Given the description of an element on the screen output the (x, y) to click on. 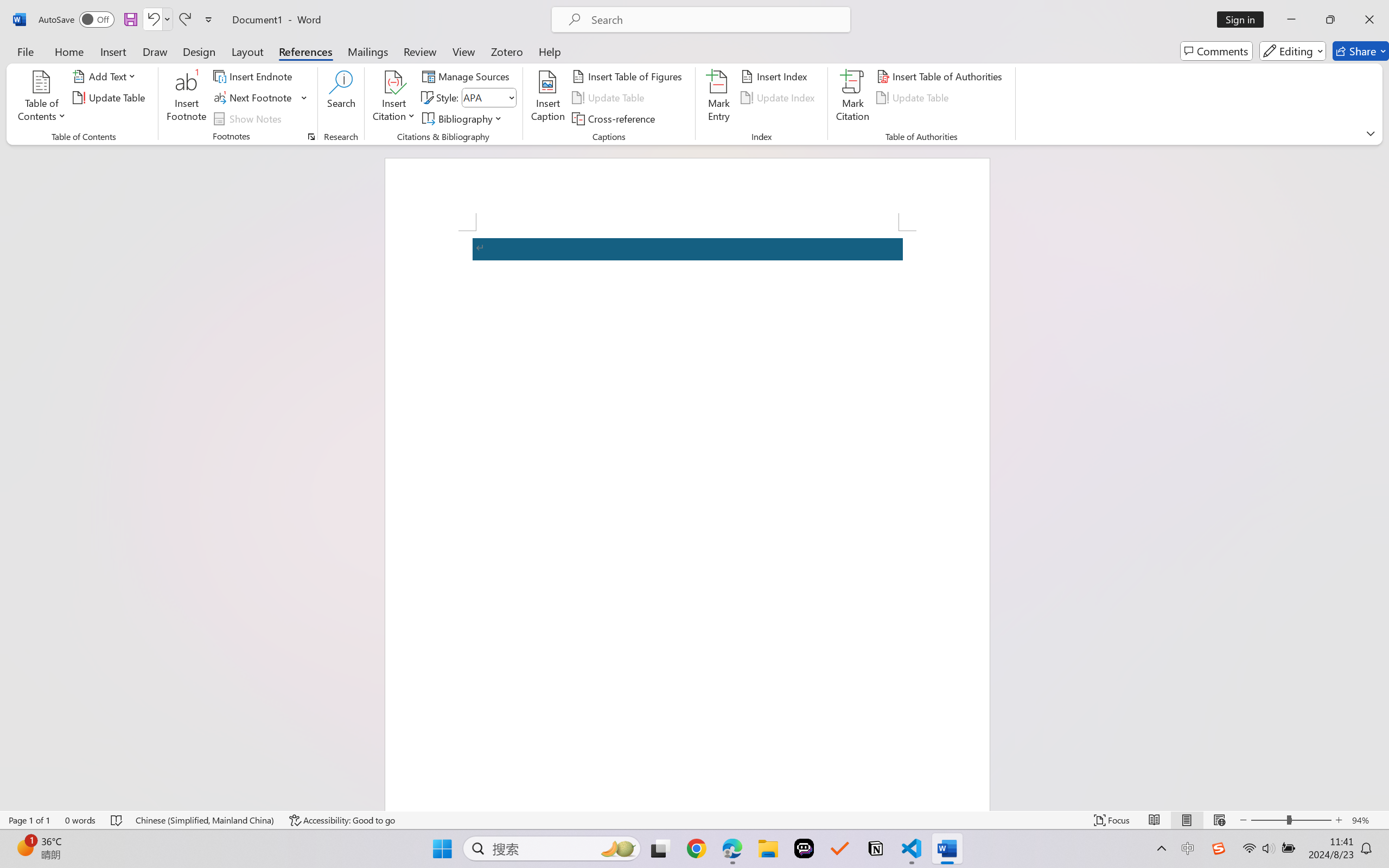
Insert Footnote (186, 97)
Undo Apply Quick Style Set (158, 19)
Insert Table of Figures... (628, 75)
Mark Citation... (852, 97)
Update Table (914, 97)
